Given the description of an element on the screen output the (x, y) to click on. 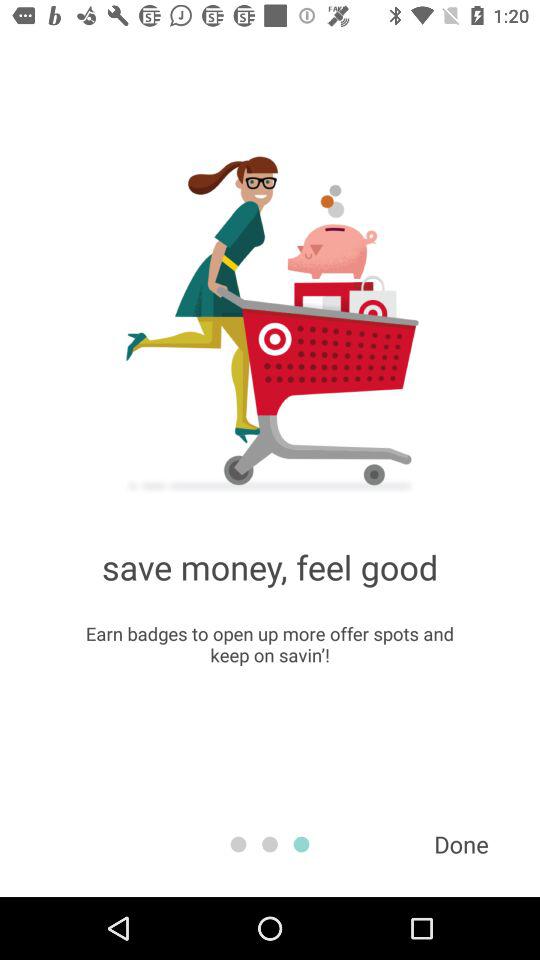
tap the done item (461, 844)
